Given the description of an element on the screen output the (x, y) to click on. 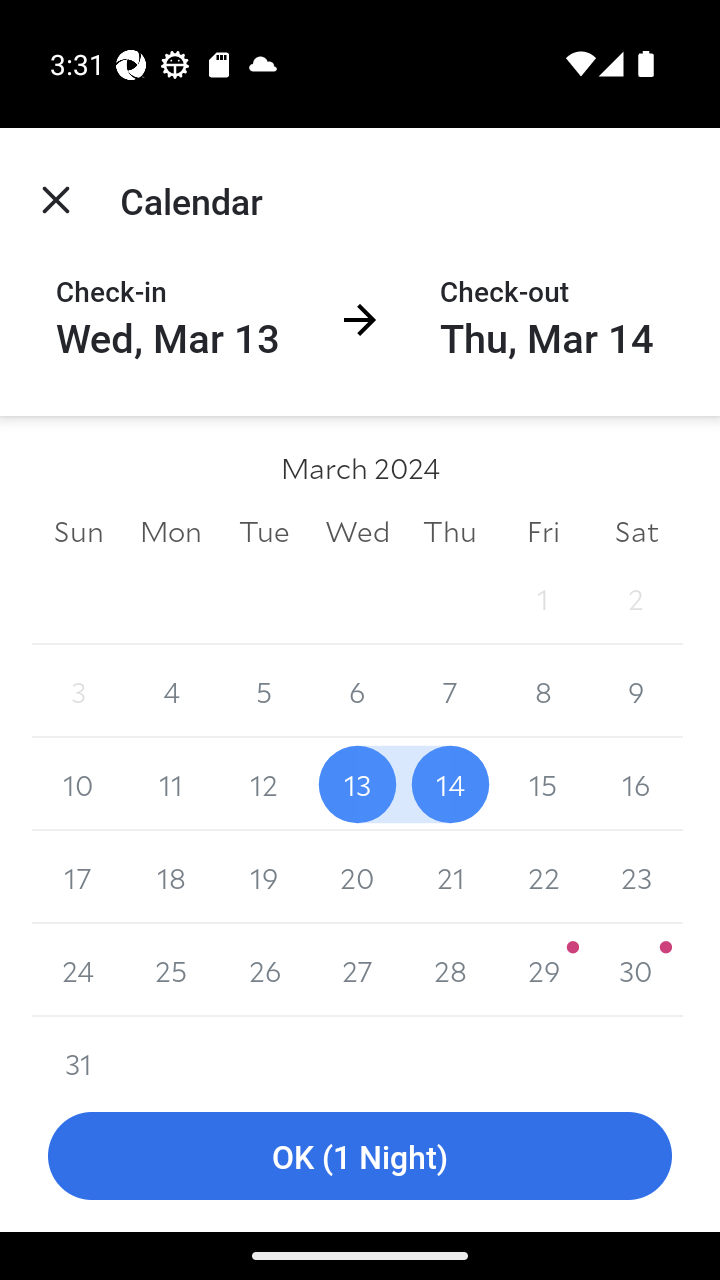
Sun (78, 530)
Mon (171, 530)
Tue (264, 530)
Wed (357, 530)
Thu (449, 530)
Fri (542, 530)
Sat (636, 530)
1 1 March 2024 (542, 598)
2 2 March 2024 (636, 598)
3 3 March 2024 (78, 691)
4 4 March 2024 (171, 691)
5 5 March 2024 (264, 691)
6 6 March 2024 (357, 691)
7 7 March 2024 (449, 691)
8 8 March 2024 (542, 691)
9 9 March 2024 (636, 691)
10 10 March 2024 (78, 784)
11 11 March 2024 (171, 784)
12 12 March 2024 (264, 784)
13 13 March 2024 (357, 784)
14 14 March 2024 (449, 784)
15 15 March 2024 (542, 784)
16 16 March 2024 (636, 784)
17 17 March 2024 (78, 877)
18 18 March 2024 (171, 877)
19 19 March 2024 (264, 877)
20 20 March 2024 (357, 877)
21 21 March 2024 (449, 877)
22 22 March 2024 (542, 877)
23 23 March 2024 (636, 877)
24 24 March 2024 (78, 970)
25 25 March 2024 (171, 970)
26 26 March 2024 (264, 970)
27 27 March 2024 (357, 970)
28 28 March 2024 (449, 970)
29 29 March 2024 (542, 970)
30 30 March 2024 (636, 970)
31 31 March 2024 (78, 1048)
OK (1 Night) (359, 1156)
